Given the description of an element on the screen output the (x, y) to click on. 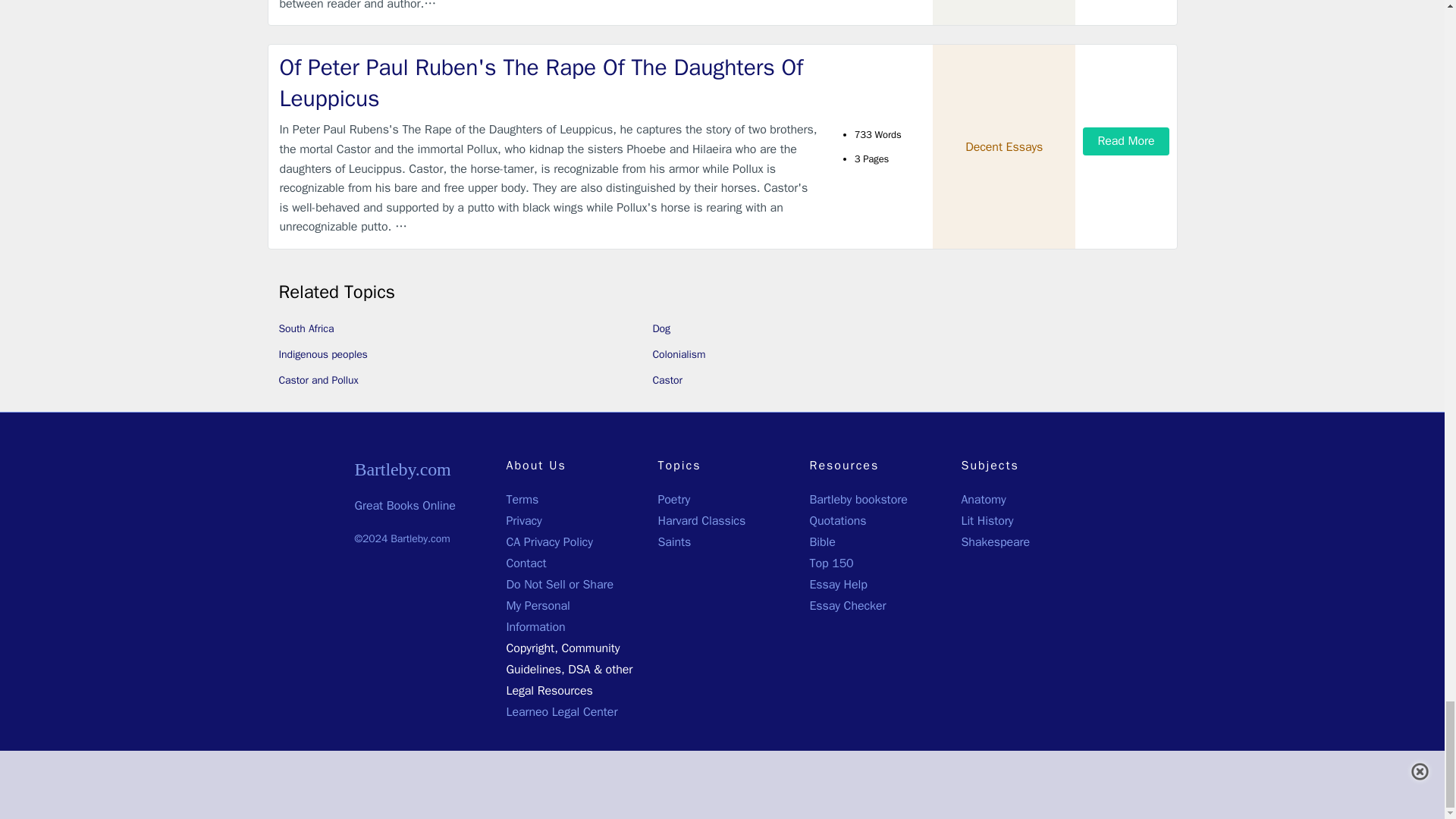
Castor and Pollux (318, 379)
Indigenous peoples (323, 354)
South Africa (306, 328)
Colonialism (678, 354)
Dog (660, 328)
Castor (666, 379)
